Given the description of an element on the screen output the (x, y) to click on. 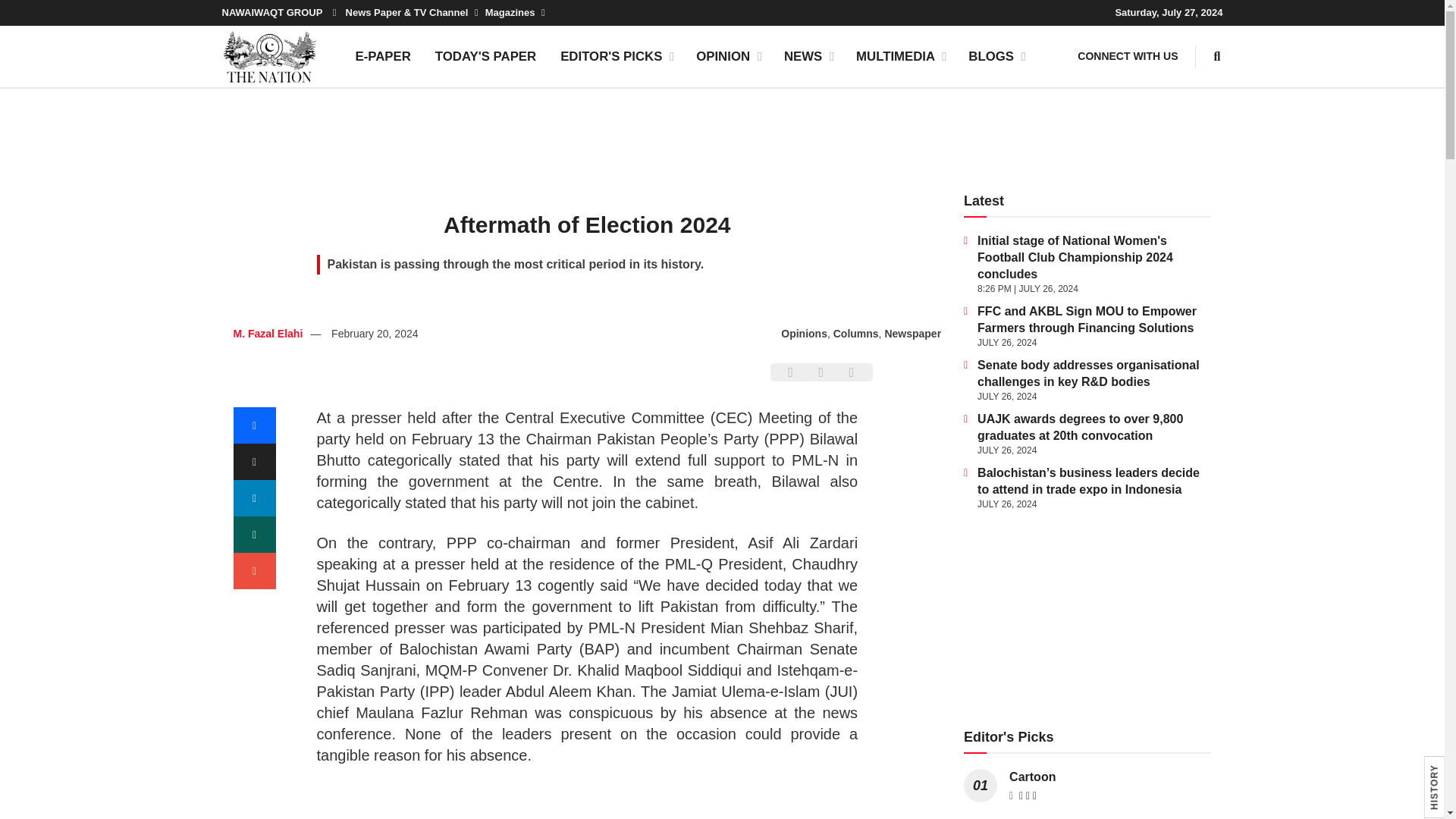
E-PAPER (382, 55)
MULTIMEDIA (900, 55)
OPINION (727, 55)
TODAY'S PAPER (485, 55)
NEWS (807, 55)
Magazines (513, 12)
BLOGS (995, 55)
EDITOR'S PICKS (616, 55)
